Given the description of an element on the screen output the (x, y) to click on. 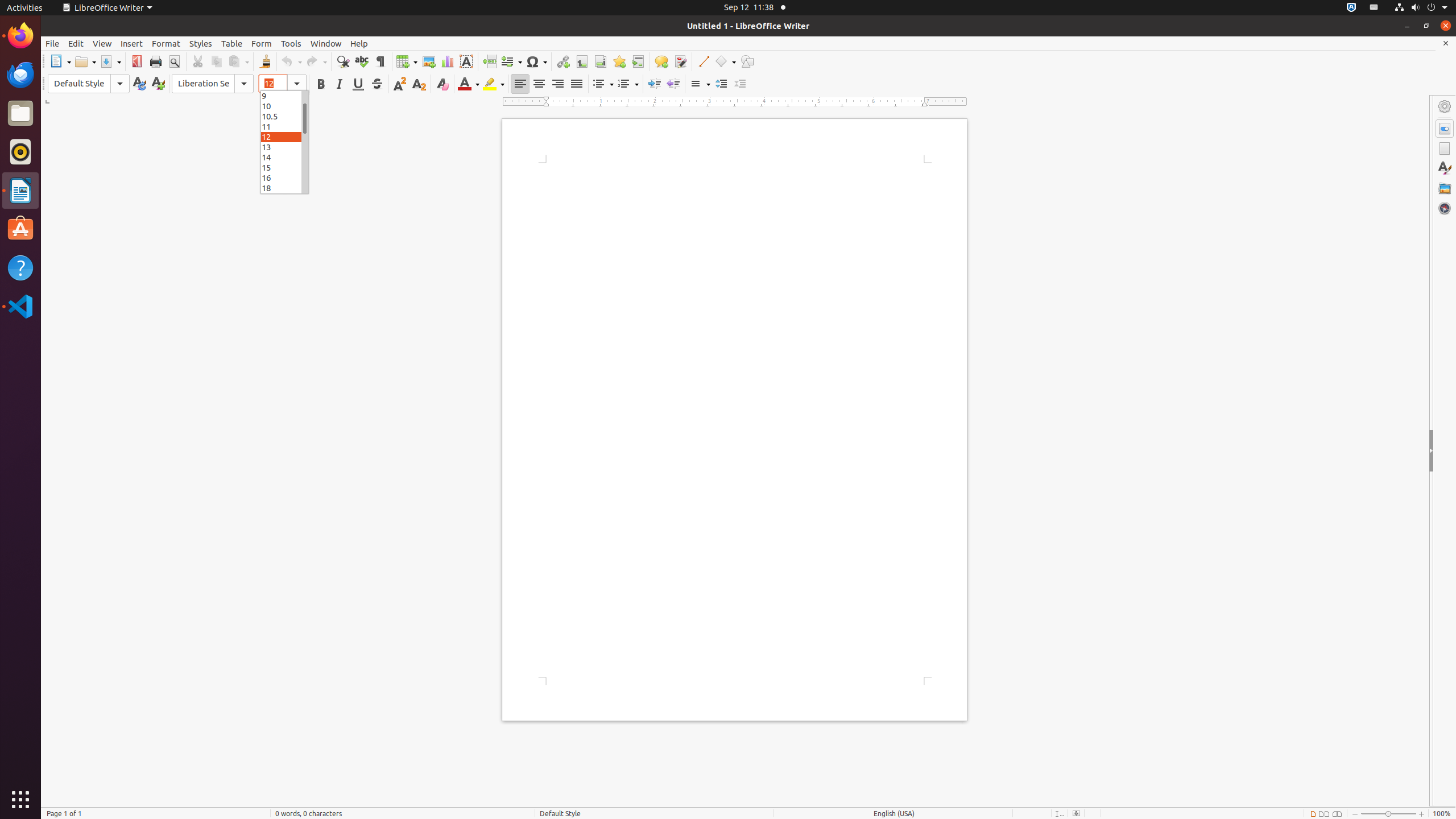
15 Element type: list-item (284, 167)
Paste Element type: push-button (237, 61)
Gallery Element type: radio-button (1444, 188)
Spelling Element type: push-button (361, 61)
18 Element type: list-item (284, 187)
